Given the description of an element on the screen output the (x, y) to click on. 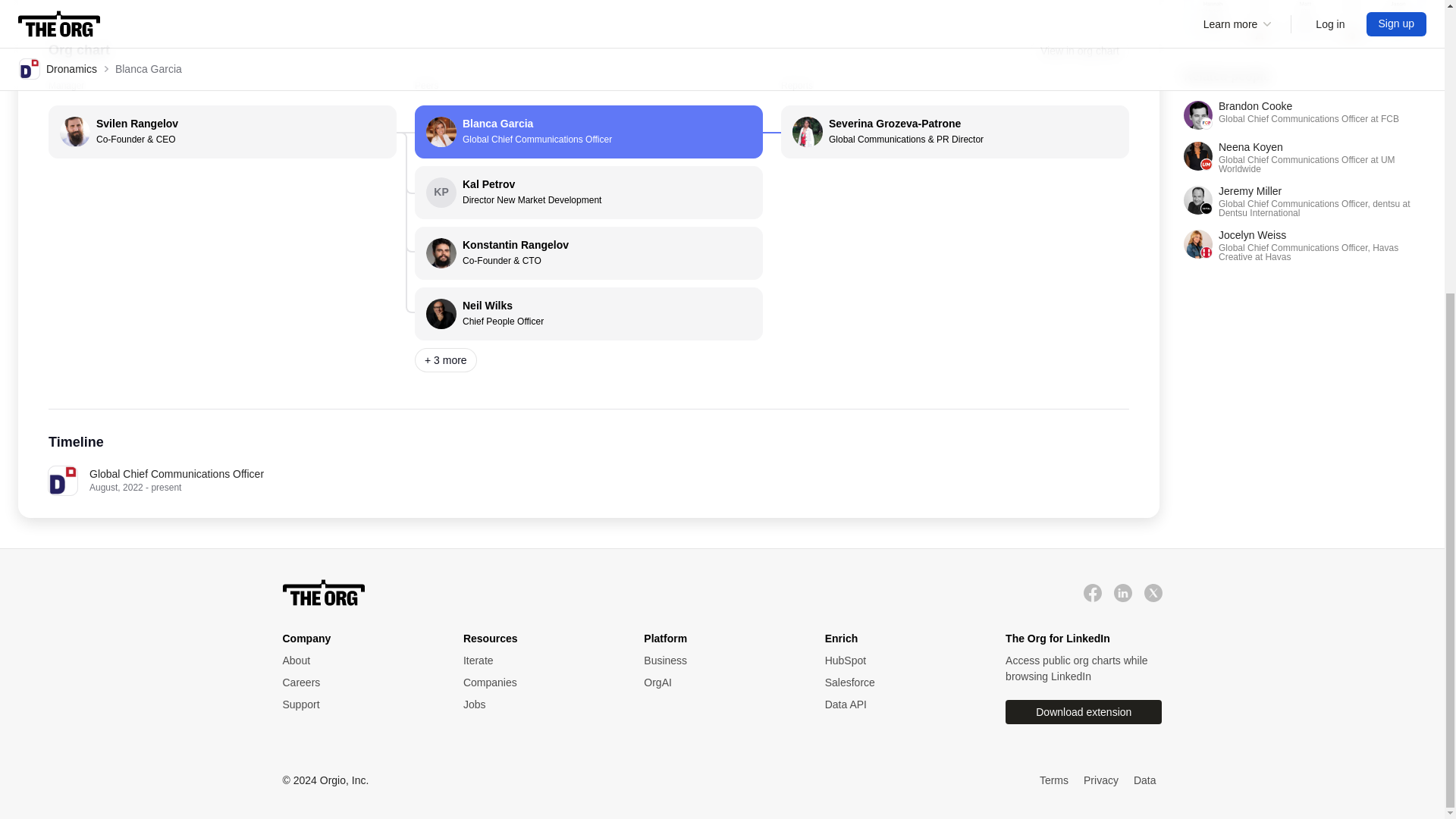
HubSpot (900, 660)
Companies (537, 682)
OrgAI (718, 682)
Facebook (1091, 592)
Business (718, 660)
The Org logo (1304, 114)
Companies (323, 592)
About (537, 682)
Support (357, 660)
Careers (357, 704)
LinkedIn (357, 682)
